Given the description of an element on the screen output the (x, y) to click on. 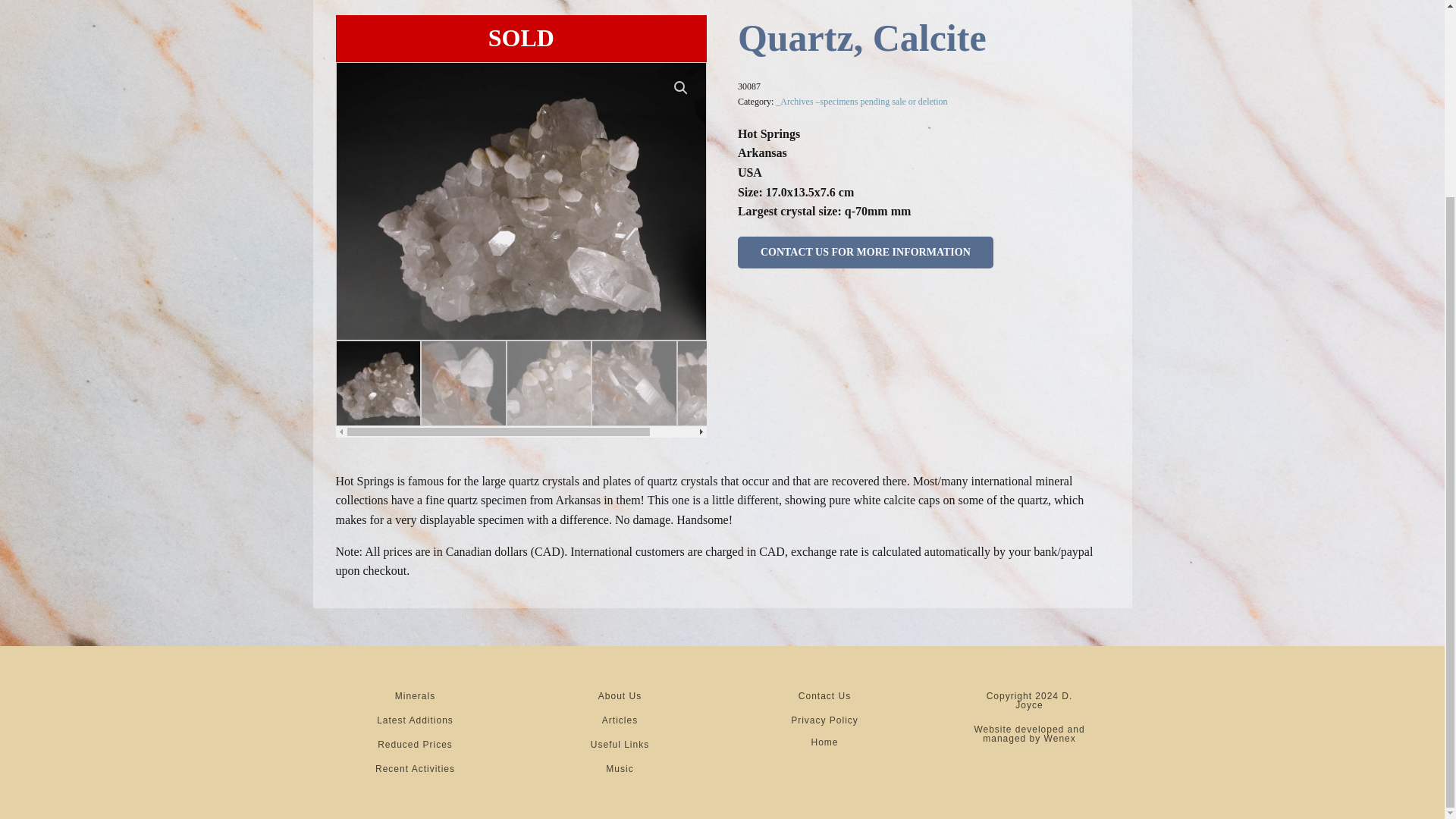
Recent Activities (414, 768)
Reduced Prices (414, 744)
30087b (890, 201)
Minerals (414, 695)
Latest Additions (414, 720)
CONTACT US FOR MORE INFORMATION (865, 252)
30087 (521, 201)
About Us (620, 695)
